Given the description of an element on the screen output the (x, y) to click on. 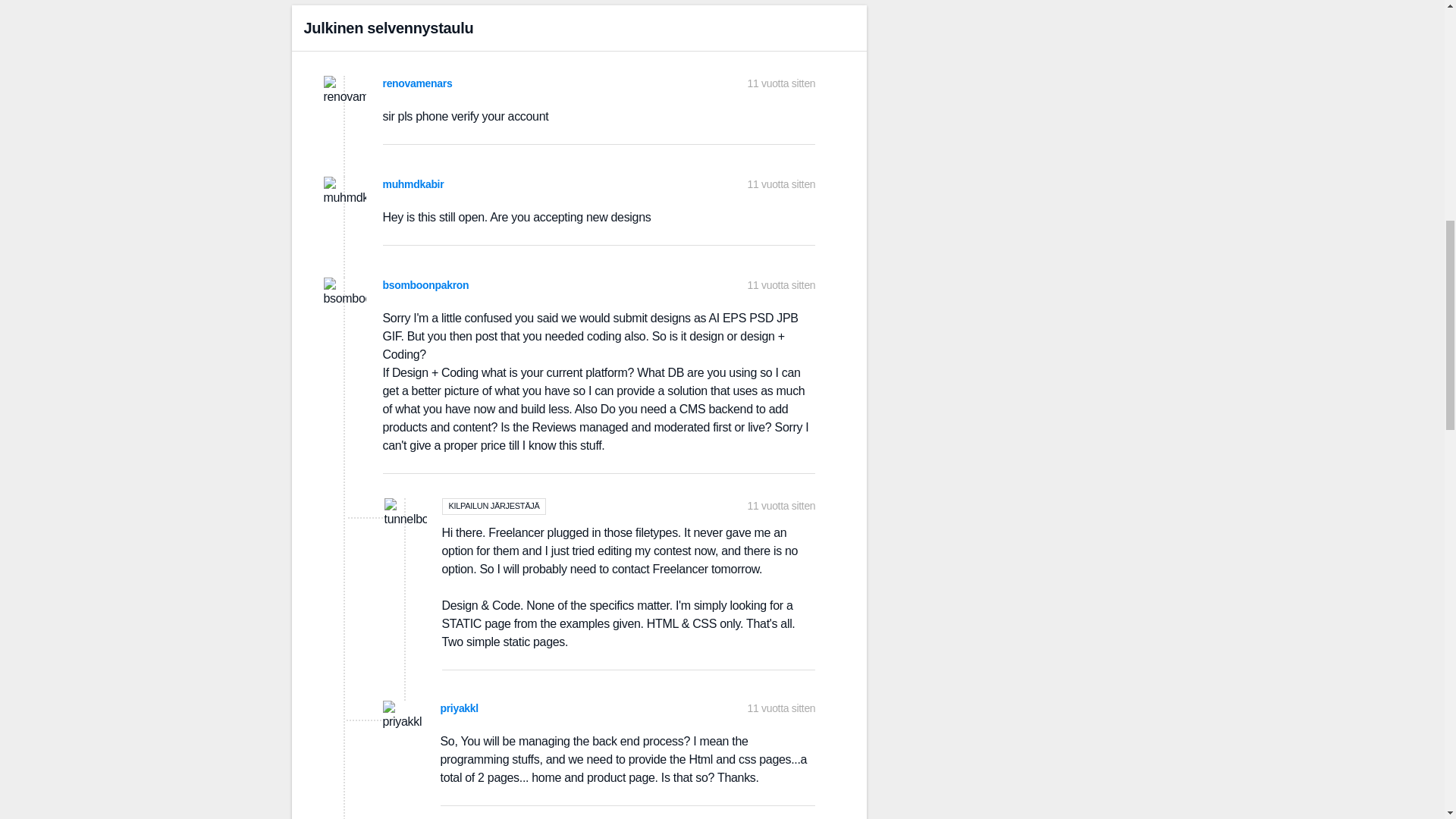
priyakkl (458, 707)
bsomboonpakron (424, 285)
muhmdkabir (412, 184)
renovamenars (416, 82)
